Given the description of an element on the screen output the (x, y) to click on. 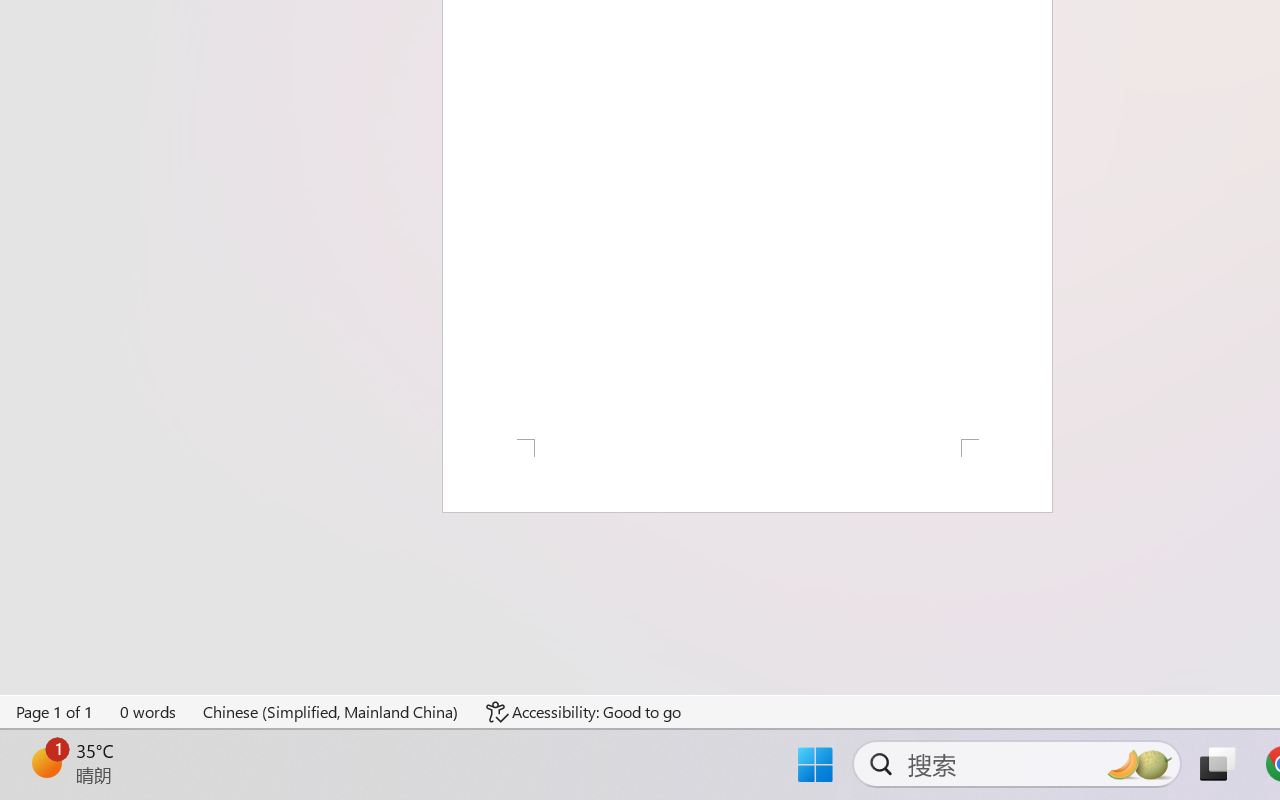
Language Chinese (Simplified, Mainland China) (331, 712)
